Given the description of an element on the screen output the (x, y) to click on. 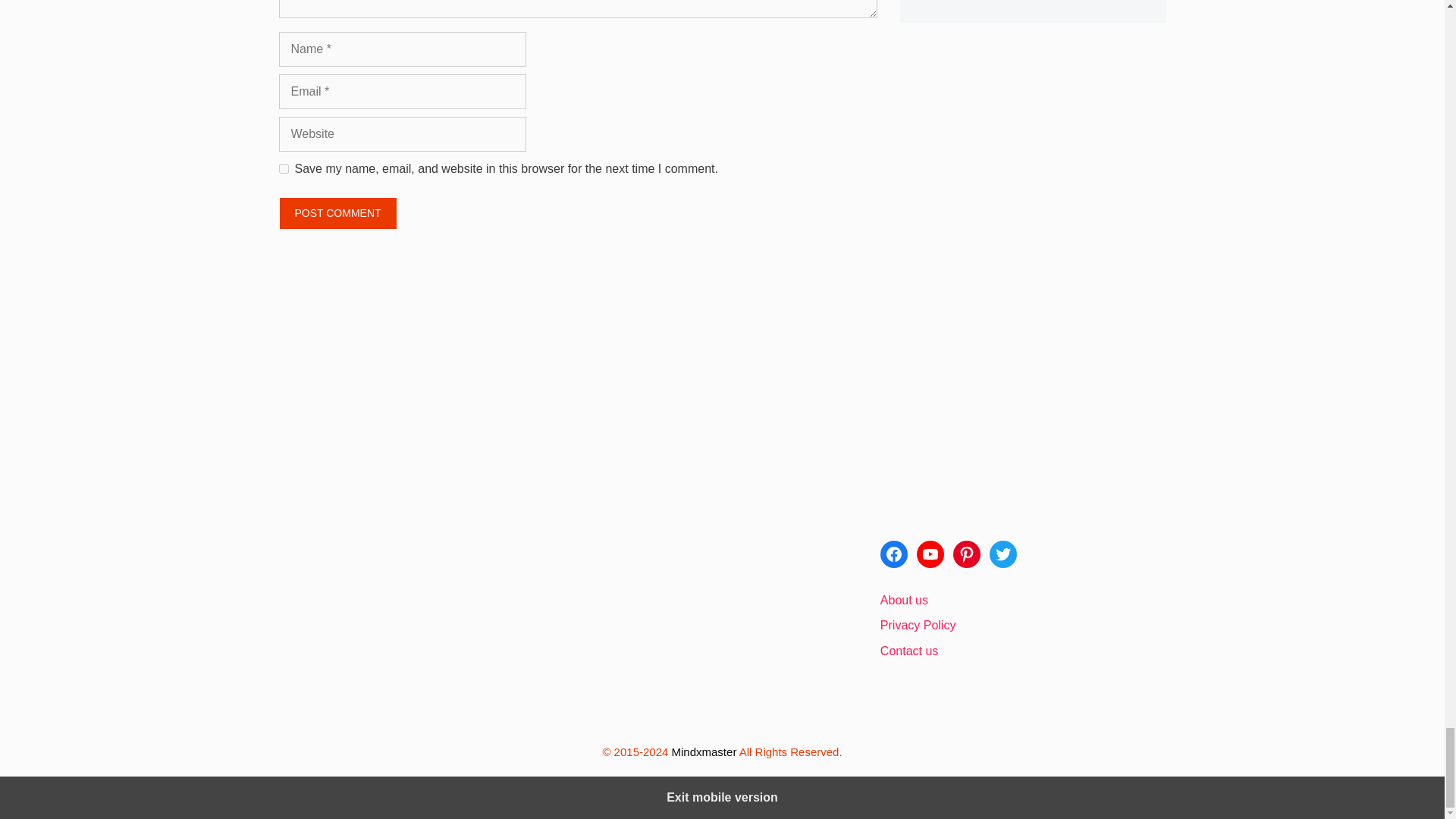
Facebook (893, 554)
Pinterest (966, 554)
yes (283, 168)
Post Comment (338, 213)
About us (904, 599)
YouTube (930, 554)
Post Comment (338, 213)
Twitter (1003, 554)
